Given the description of an element on the screen output the (x, y) to click on. 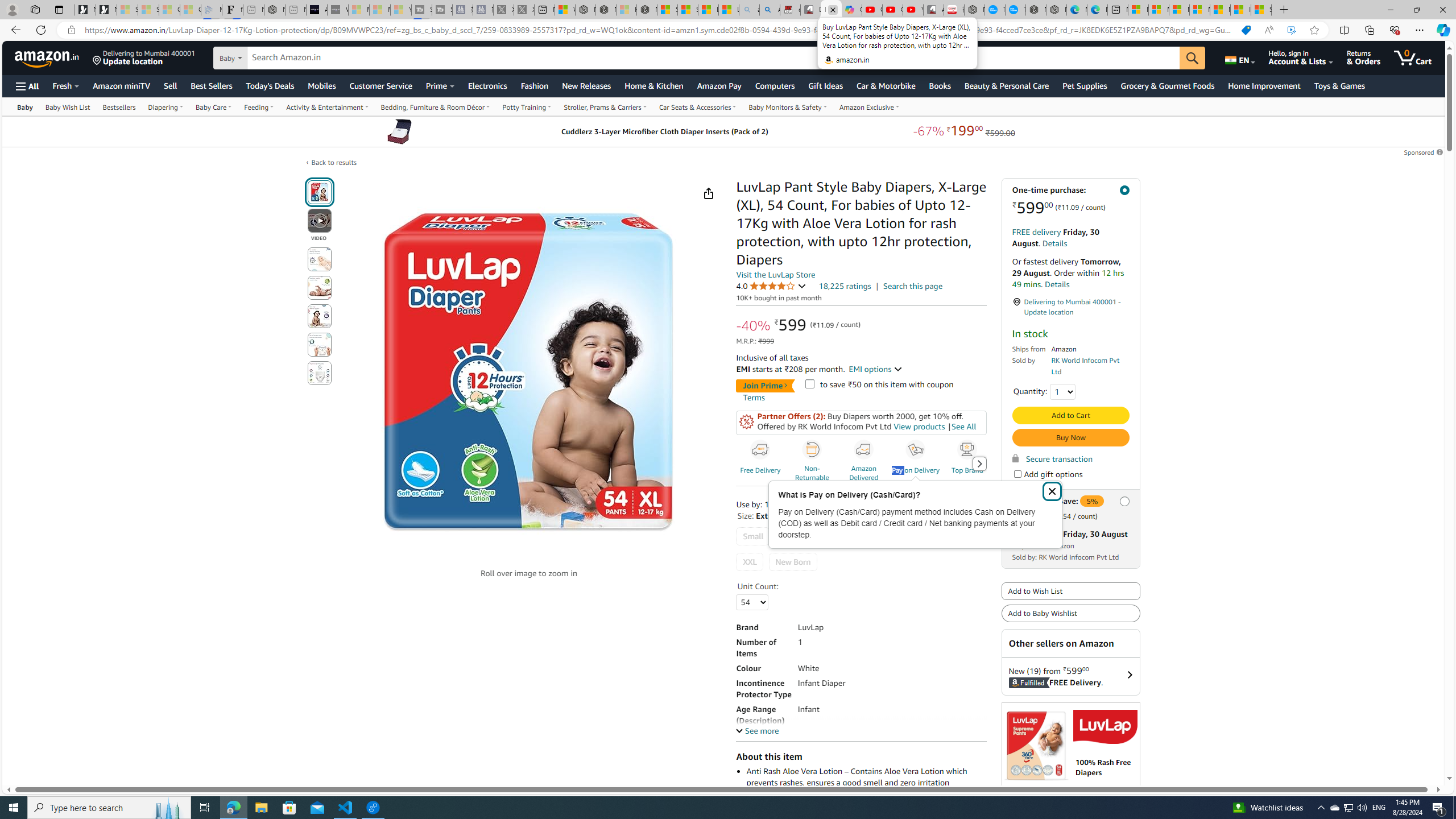
amazon - Search - Sleeping (748, 9)
